Given the description of an element on the screen output the (x, y) to click on. 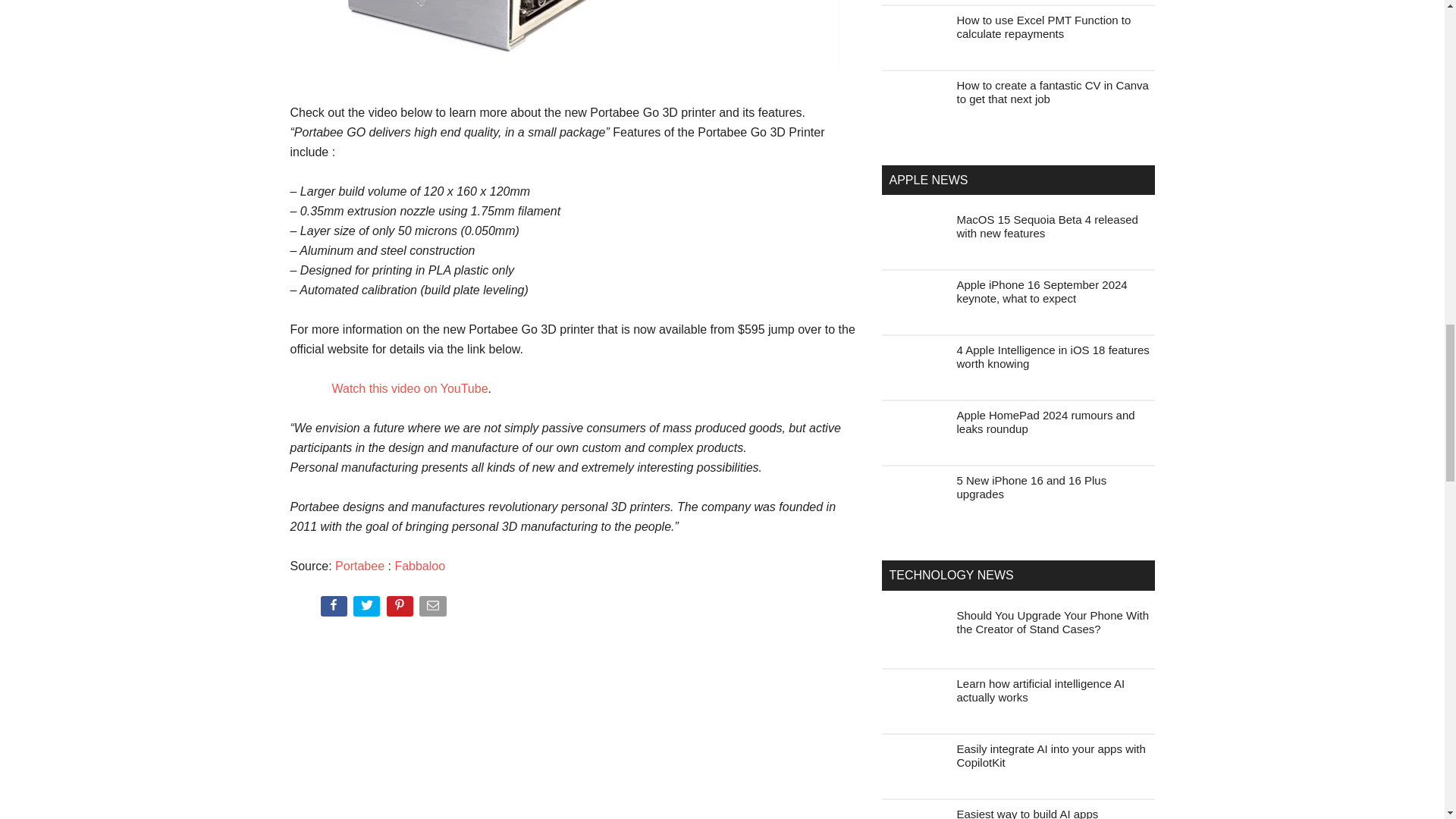
Portabee (359, 565)
Pin (401, 609)
Watch this video on YouTube (409, 388)
Fabbaloo (419, 565)
Email (433, 609)
Tweet (367, 609)
Share on Facebook (334, 609)
